Given the description of an element on the screen output the (x, y) to click on. 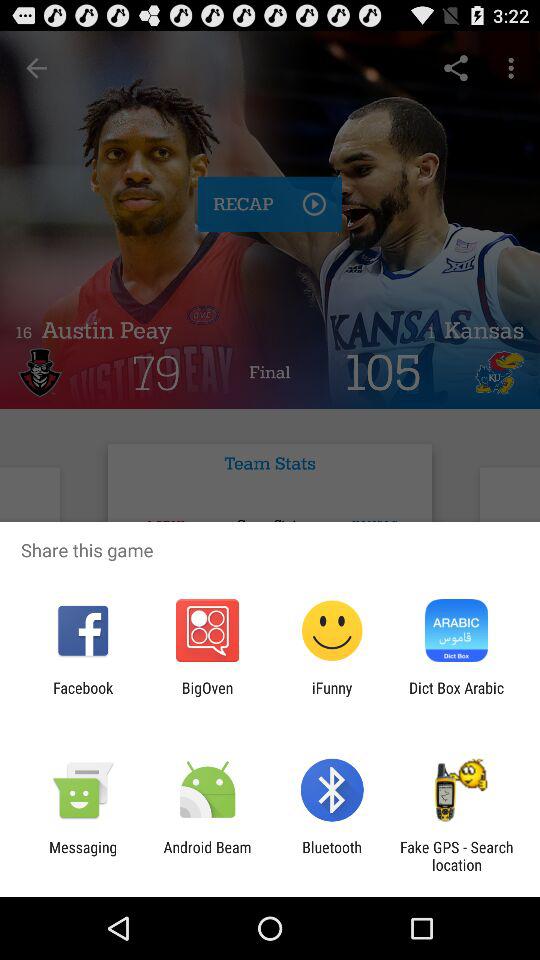
turn off app to the left of dict box arabic item (332, 696)
